Given the description of an element on the screen output the (x, y) to click on. 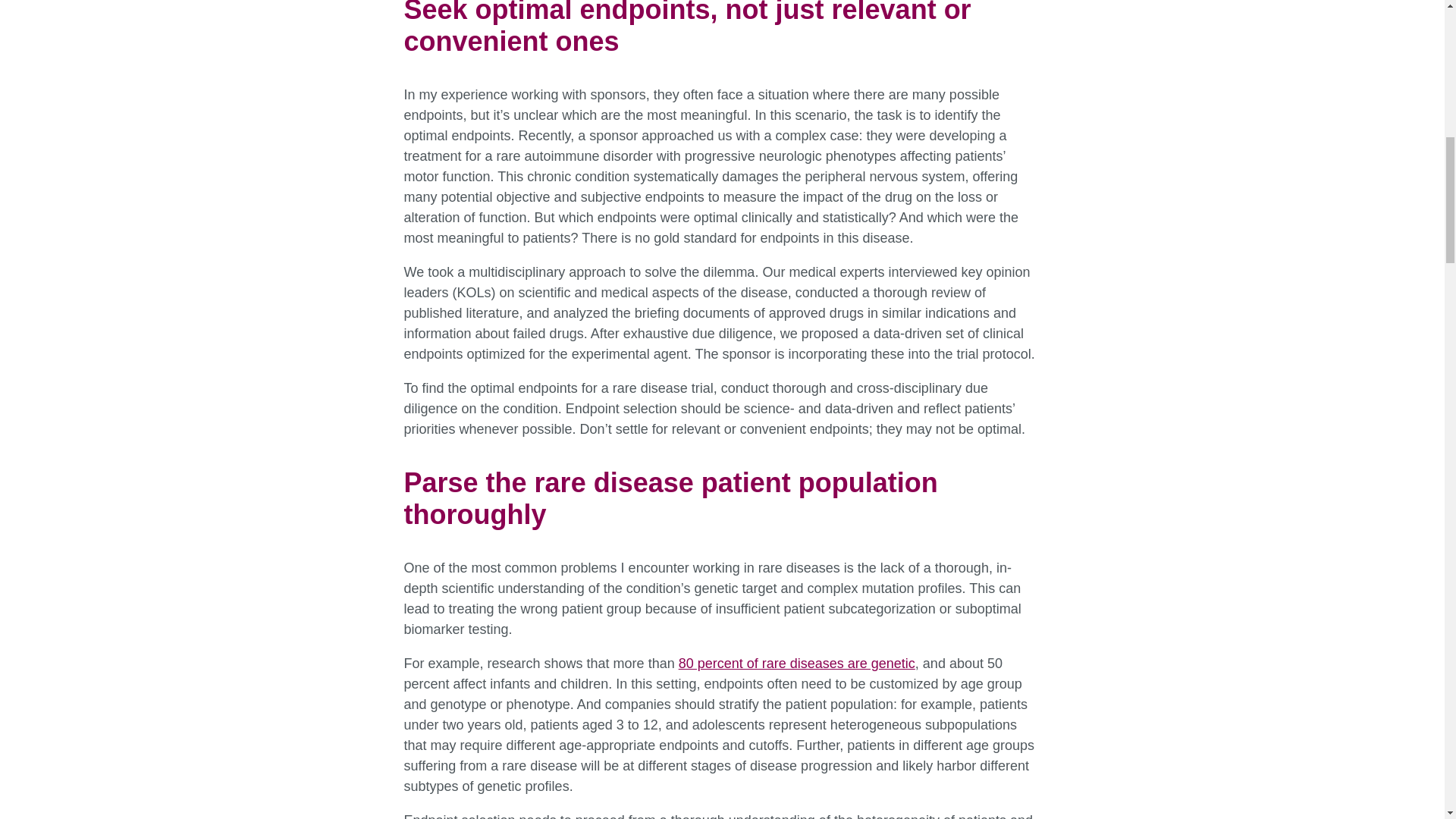
80 percent of rare diseases are genetic (796, 663)
